Given the description of an element on the screen output the (x, y) to click on. 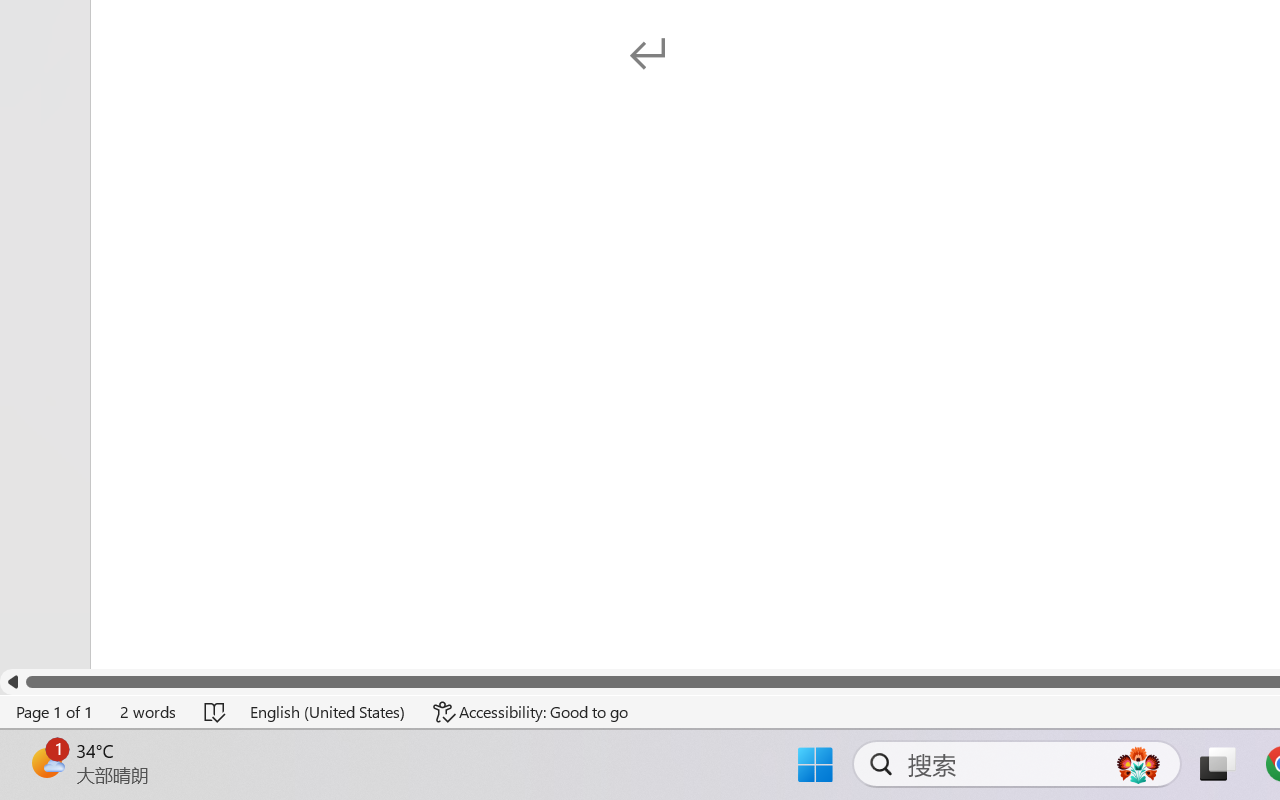
Word Count 2 words (149, 712)
Accessibility Checker Accessibility: Good to go (531, 712)
AutomationID: BadgeAnchorLargeTicker (46, 762)
Page Number Page 1 of 1 (55, 712)
Spelling and Grammar Check No Errors (216, 712)
Column left (12, 681)
Language English (United States) (328, 712)
AutomationID: DynamicSearchBoxGleamImage (1138, 764)
